Given the description of an element on the screen output the (x, y) to click on. 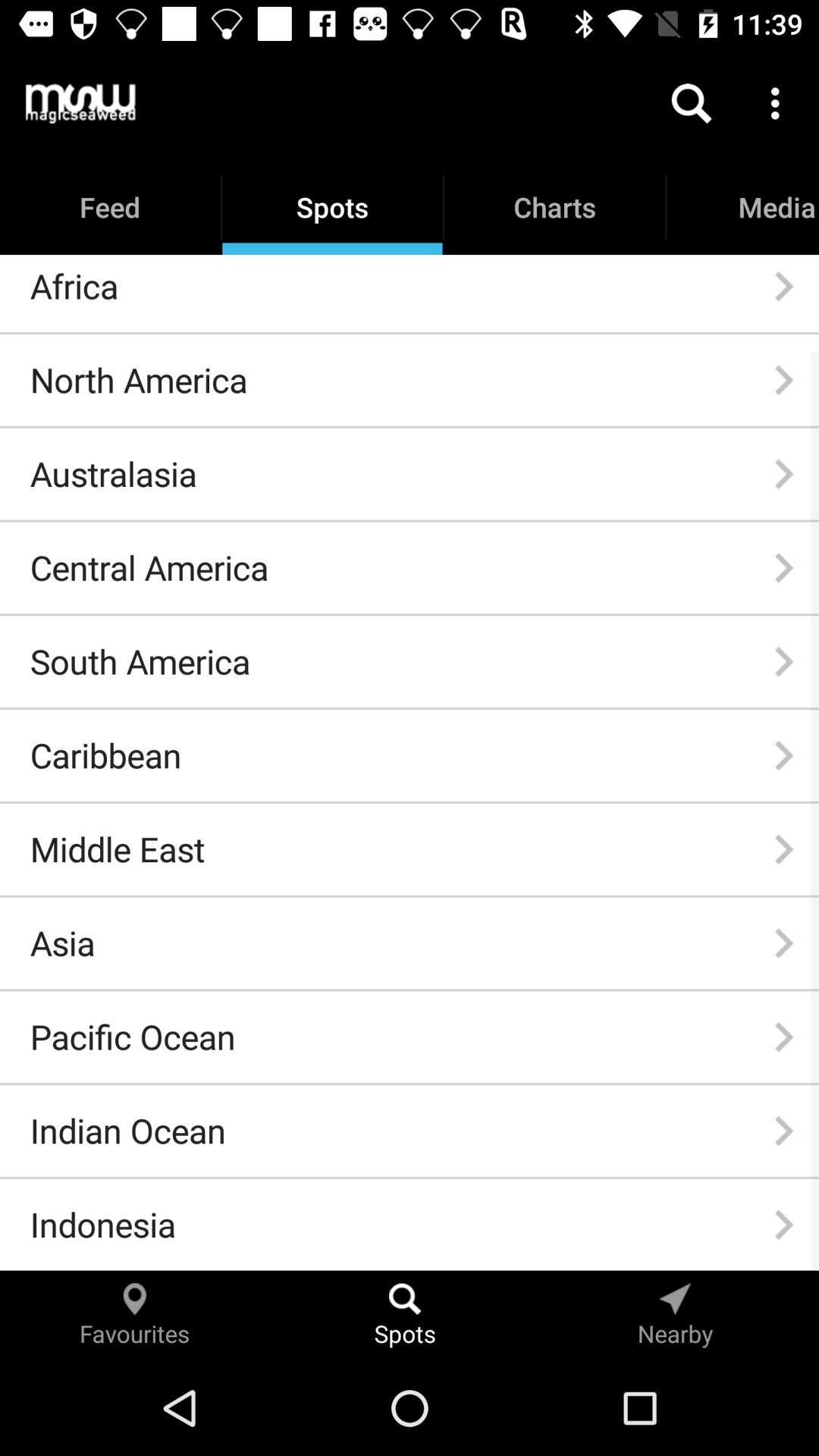
turn on the icon next to the spots icon (80, 103)
